Given the description of an element on the screen output the (x, y) to click on. 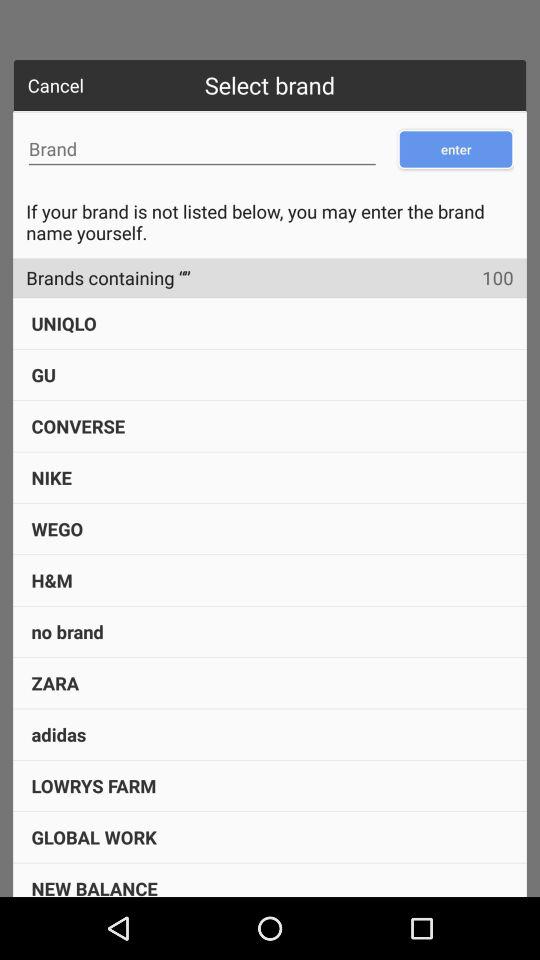
select the uniqlo item (63, 323)
